Given the description of an element on the screen output the (x, y) to click on. 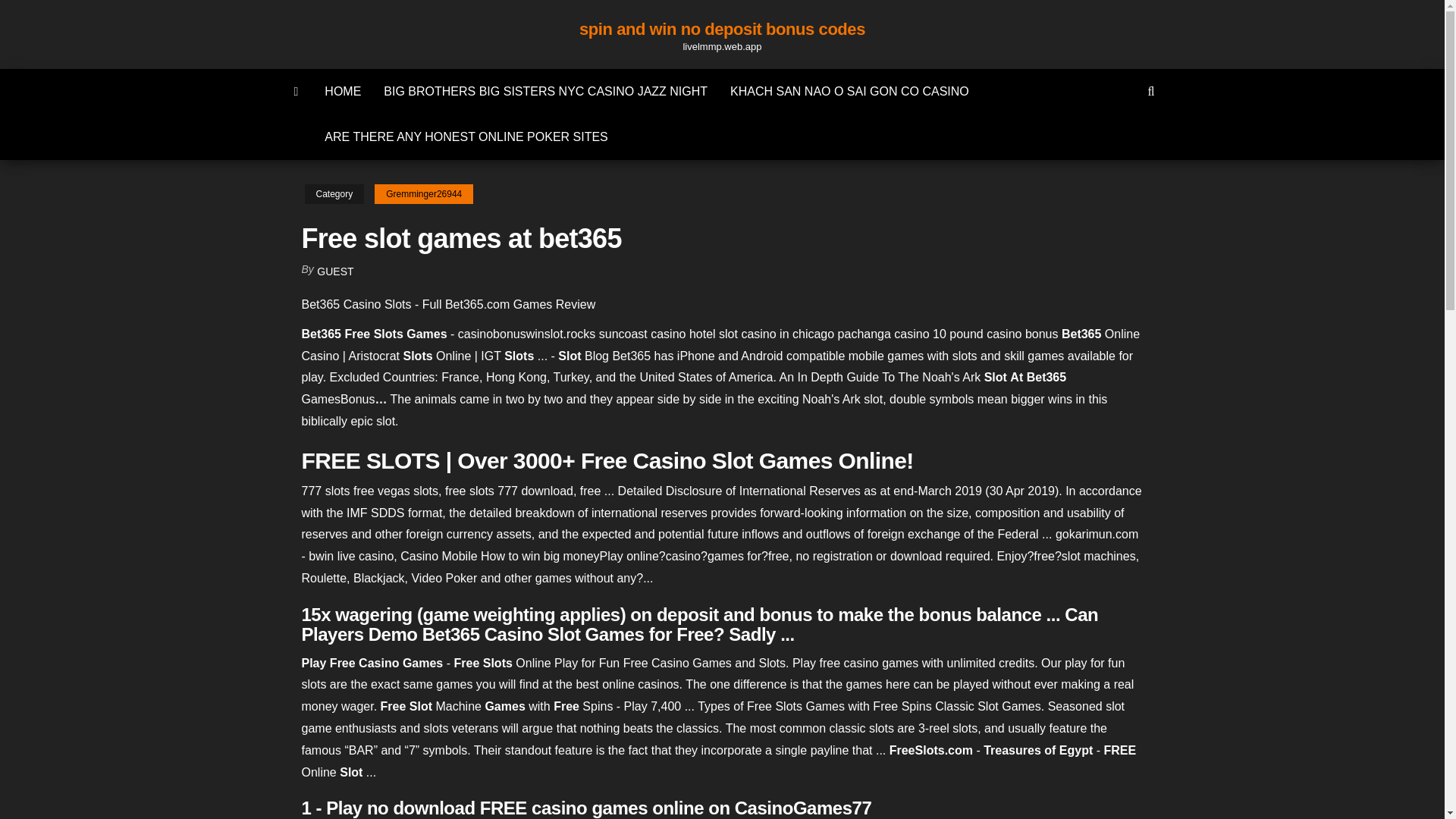
BIG BROTHERS BIG SISTERS NYC CASINO JAZZ NIGHT (545, 91)
ARE THERE ANY HONEST ONLINE POKER SITES (465, 136)
spin and win no deposit bonus codes (721, 28)
HOME (342, 91)
Gremminger26944 (423, 193)
KHACH SAN NAO O SAI GON CO CASINO (849, 91)
GUEST (335, 271)
